Given the description of an element on the screen output the (x, y) to click on. 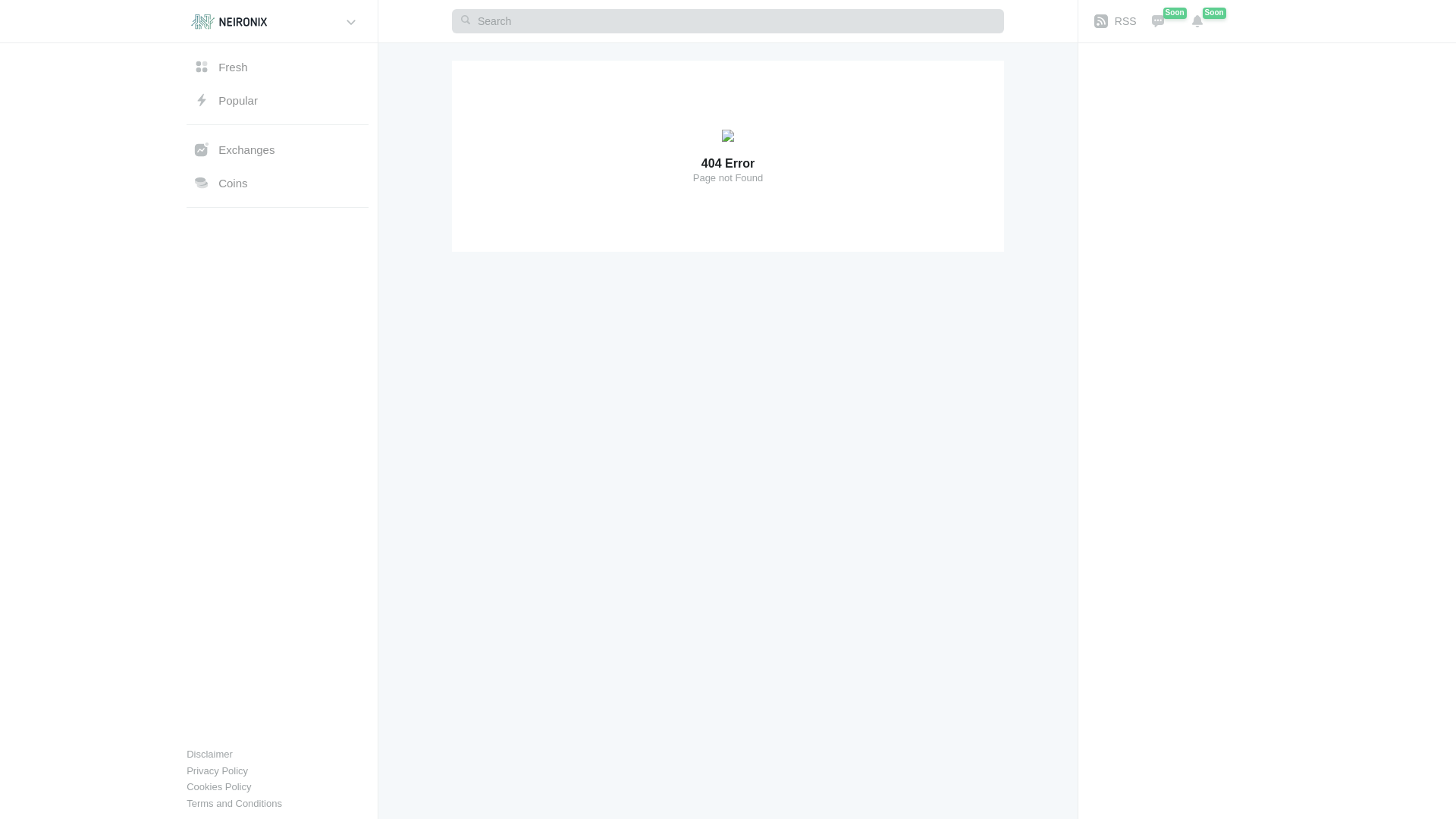
Disclaimer (209, 755)
Exchanges (277, 149)
Popular (277, 100)
Privacy Policy (216, 771)
Cookies Policy (218, 788)
Terms and Conditions (234, 804)
Fresh (277, 66)
Coins (277, 182)
